Given the description of an element on the screen output the (x, y) to click on. 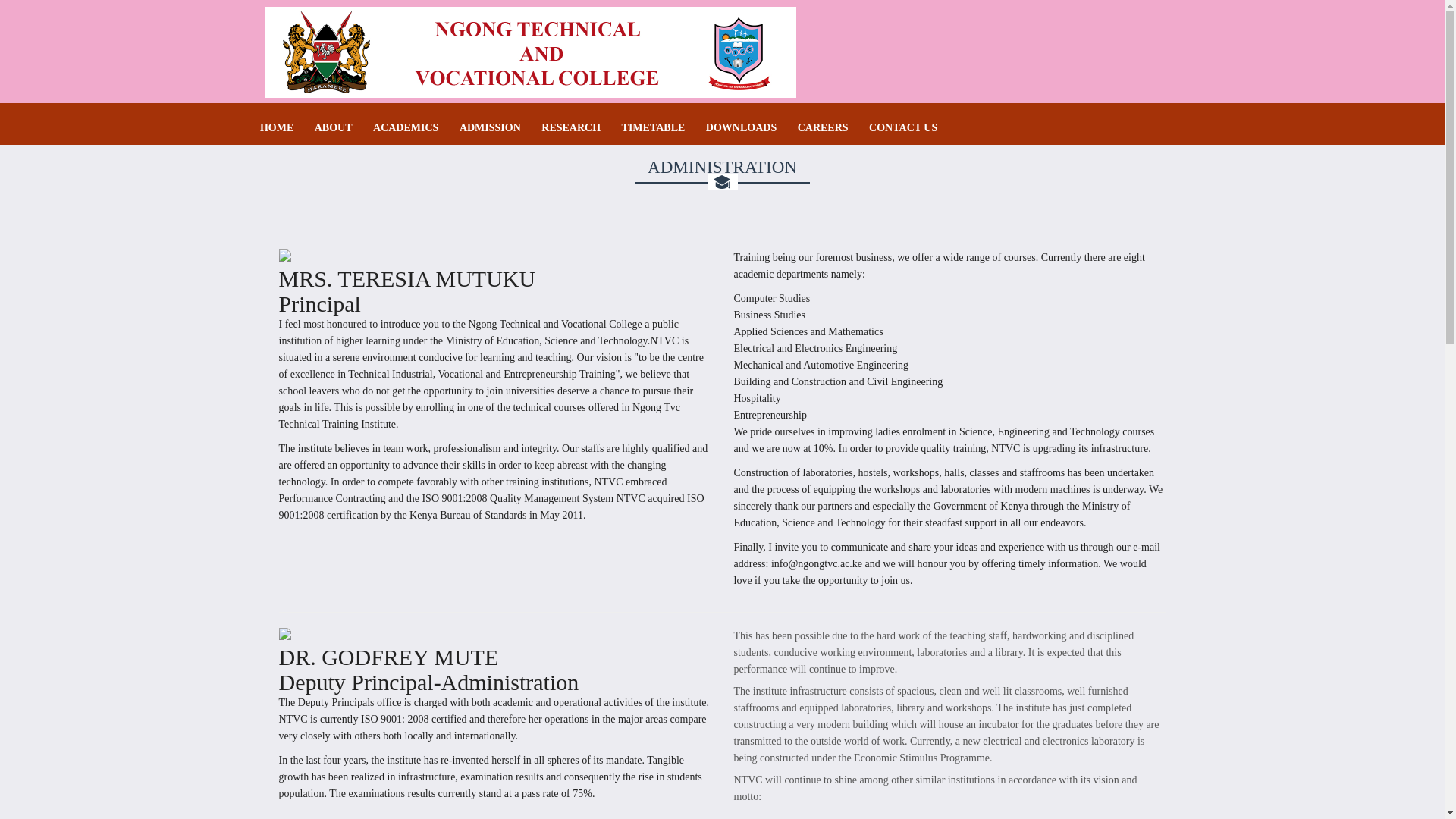
ACADEMICS (405, 127)
ADMISSION (490, 127)
TIMETABLE (653, 127)
ABOUT (333, 127)
HOME (277, 127)
RESEARCH (570, 127)
CAREERS (822, 127)
DOWNLOADS (741, 127)
